Given the description of an element on the screen output the (x, y) to click on. 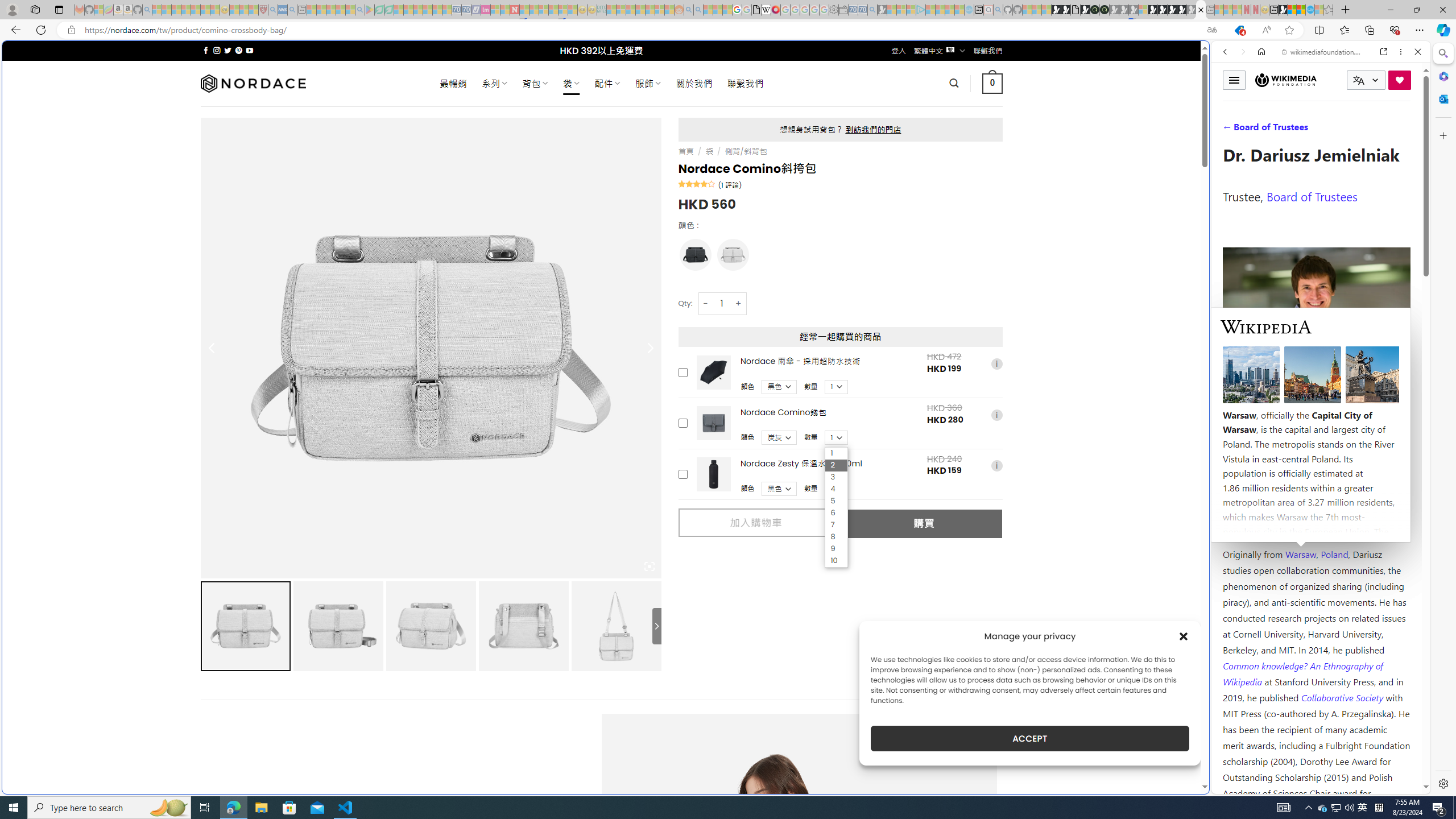
Class: i icon icon-translate language-switcher__icon (1358, 80)
